Given the description of an element on the screen output the (x, y) to click on. 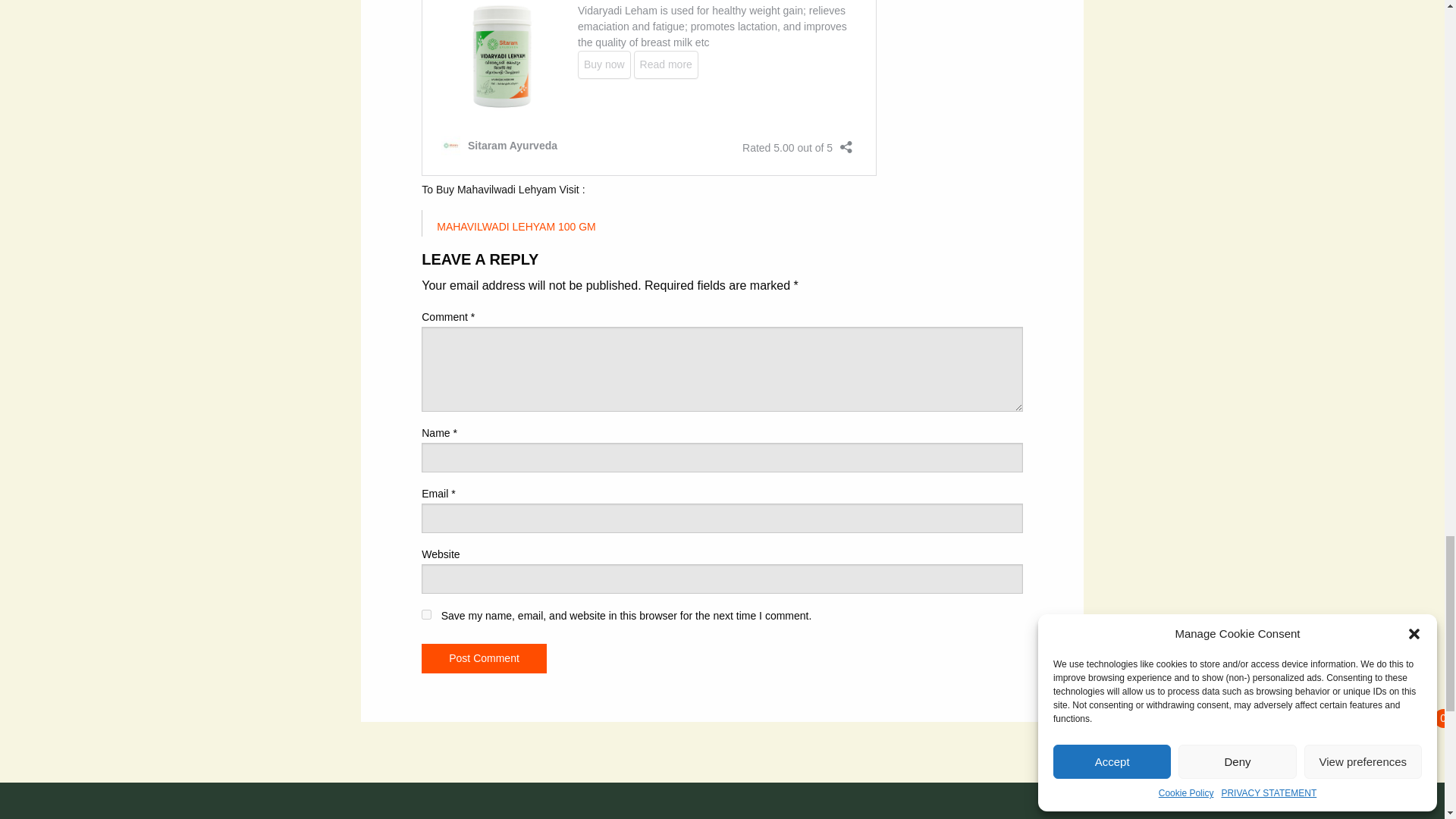
yes (426, 614)
Post Comment (484, 657)
